Given the description of an element on the screen output the (x, y) to click on. 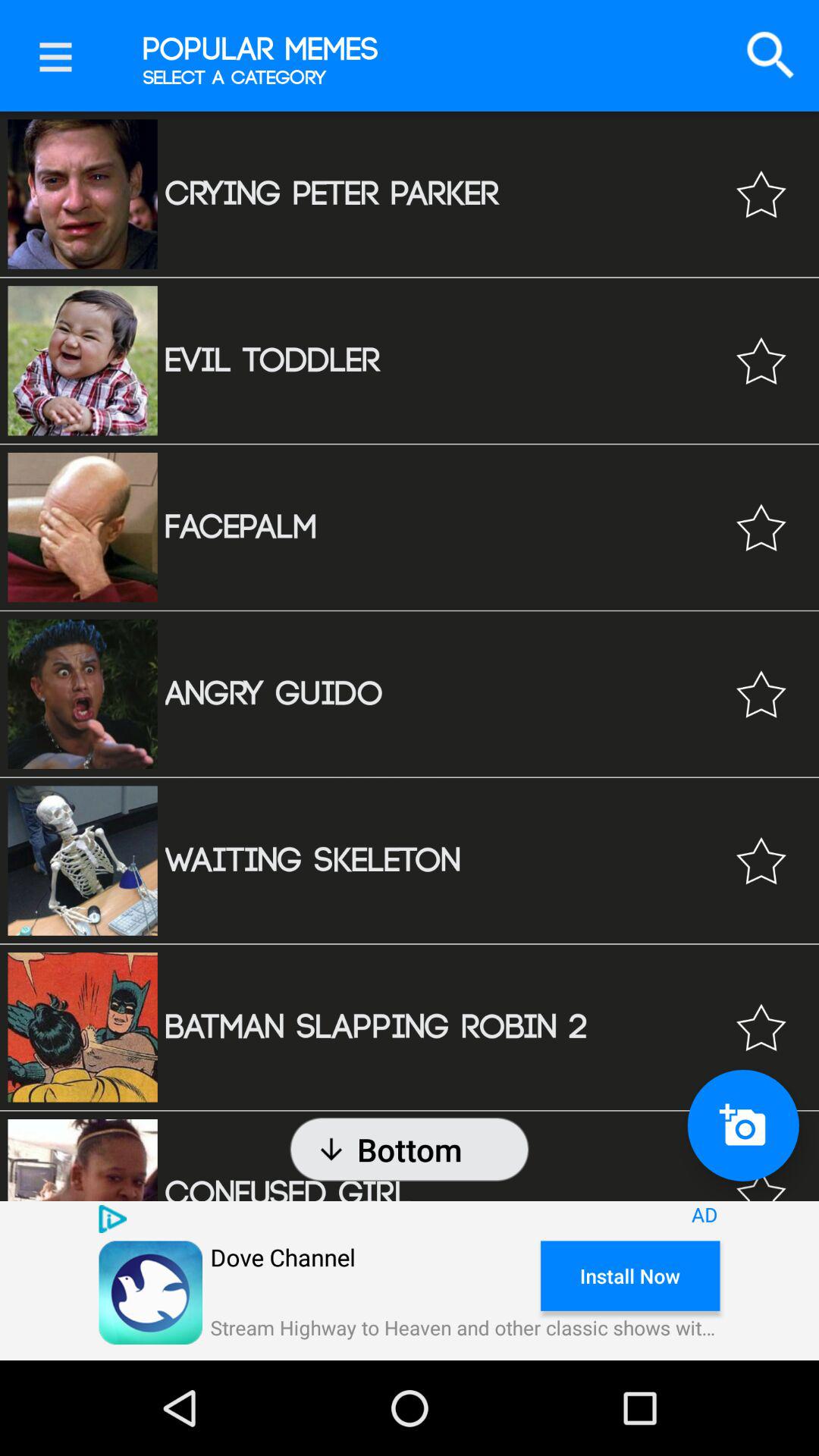
favorite batman slapping robin 2 (761, 1027)
